Given the description of an element on the screen output the (x, y) to click on. 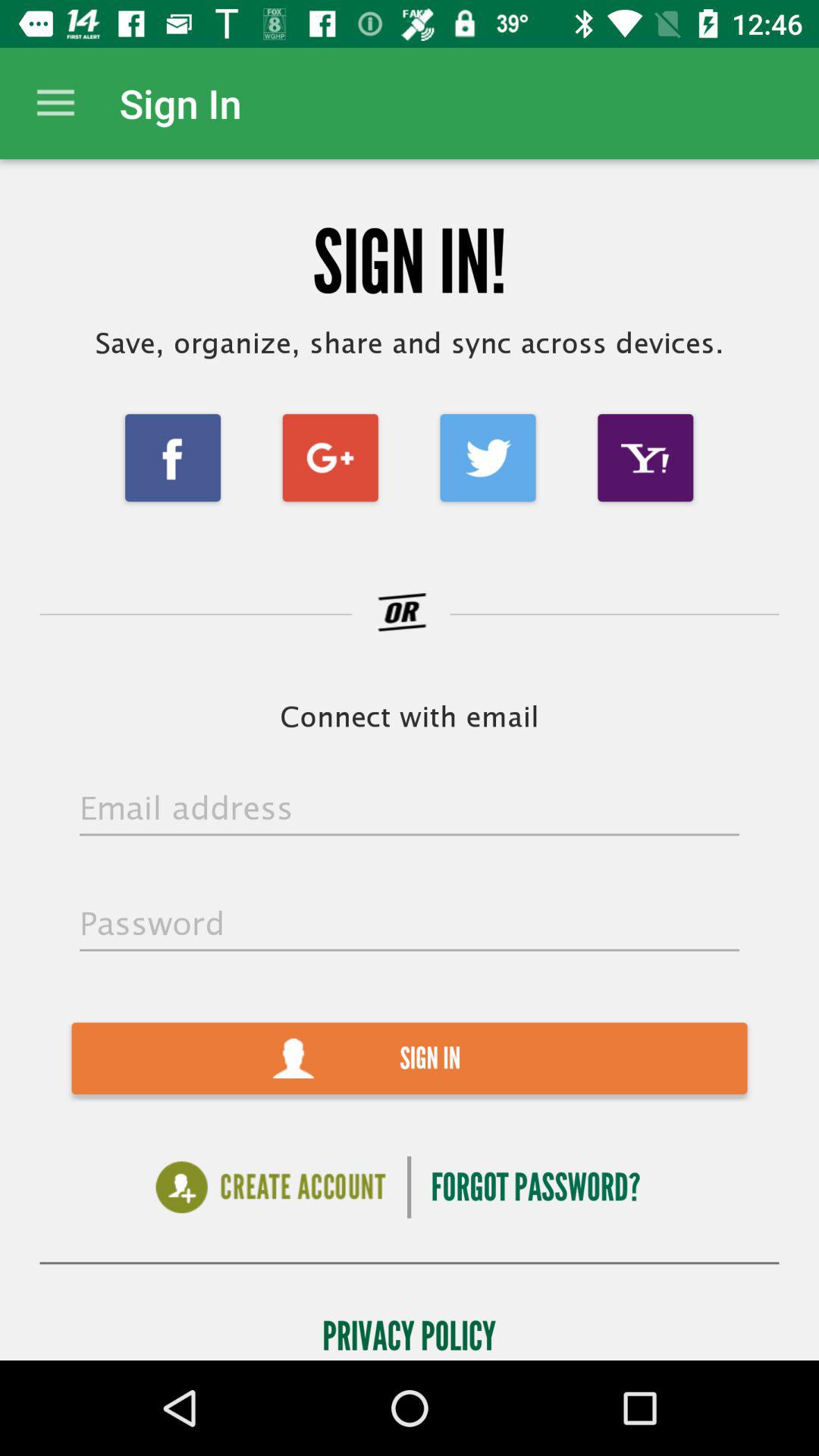
jump to the forgot password? icon (535, 1187)
